Given the description of an element on the screen output the (x, y) to click on. 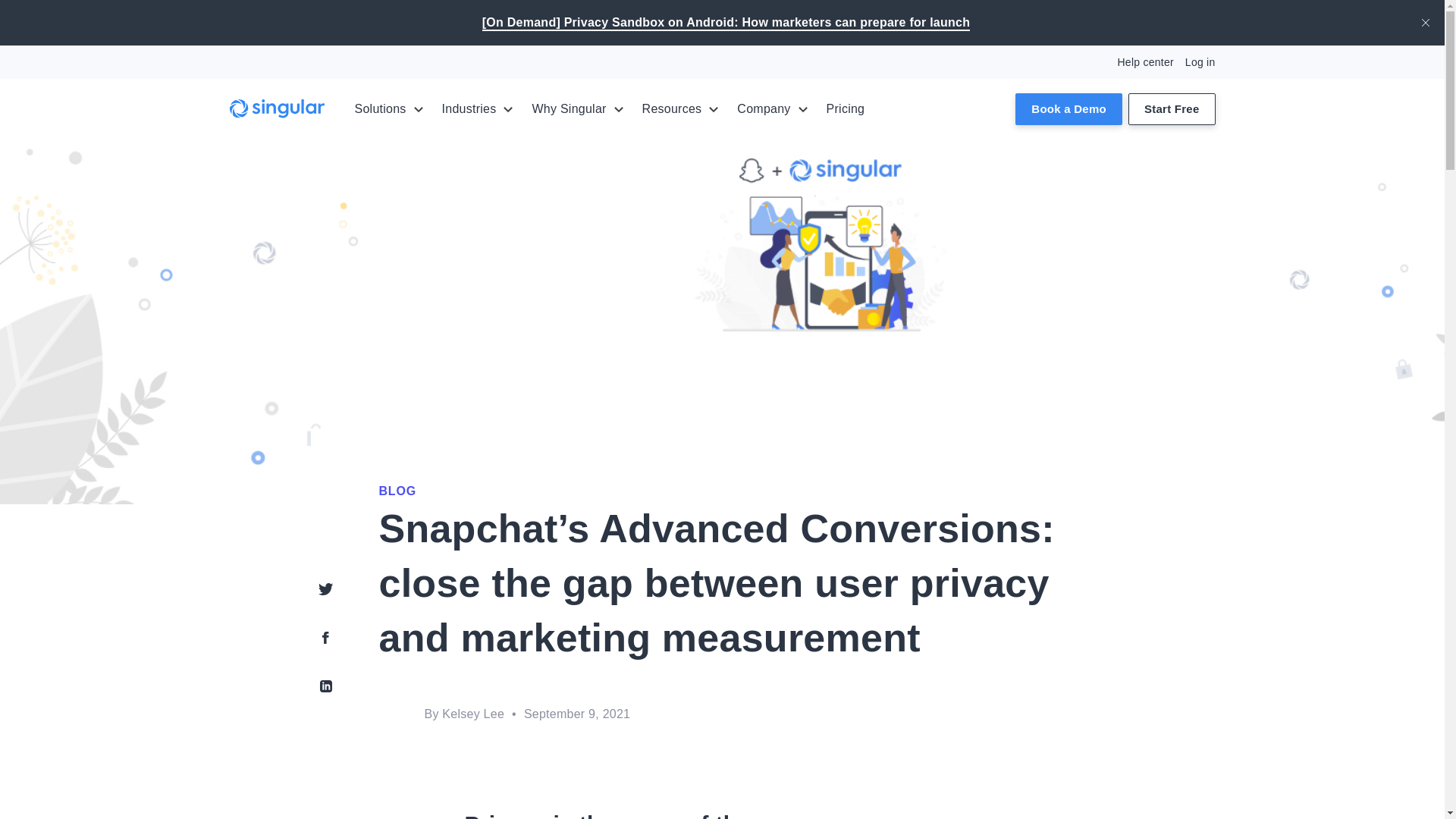
Why Singular (577, 108)
Solutions (389, 108)
Industries (477, 108)
Help center (1145, 61)
Log in (1200, 61)
